Given the description of an element on the screen output the (x, y) to click on. 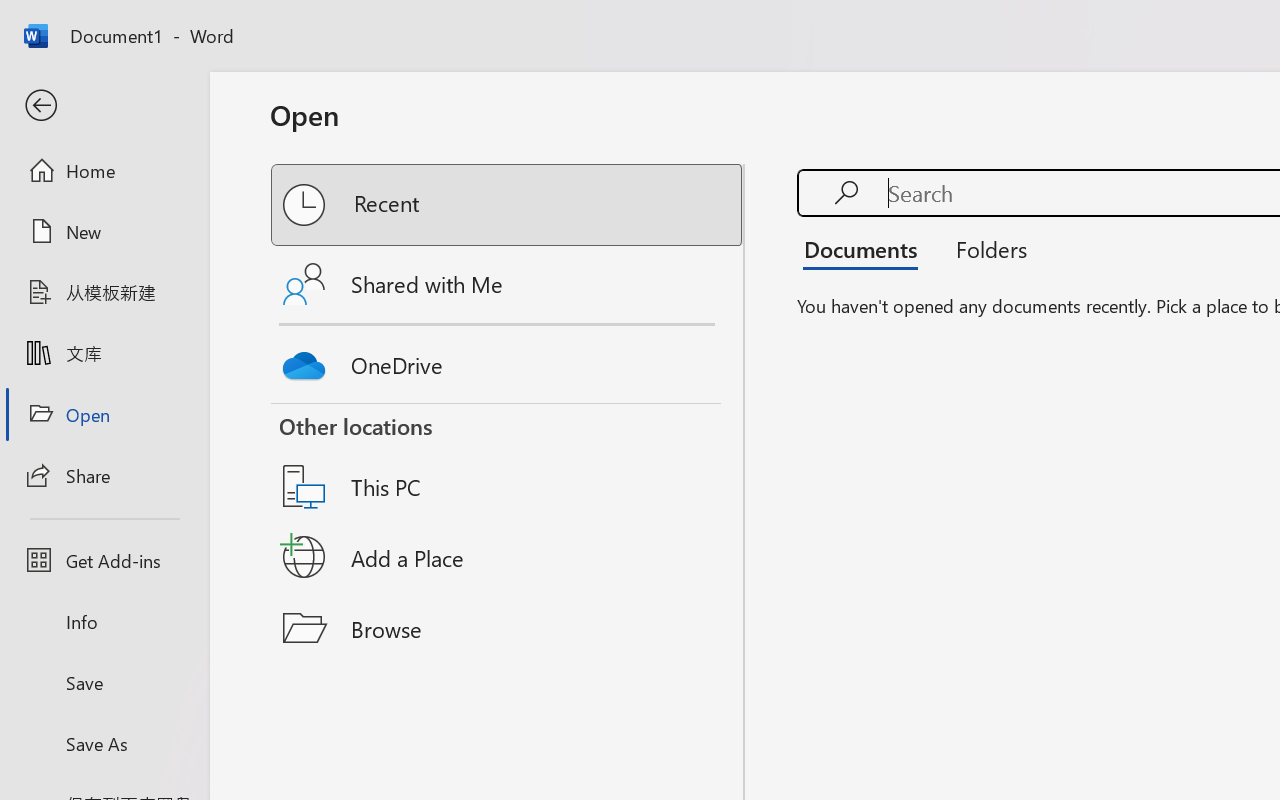
Recent (507, 205)
New (104, 231)
Save As (104, 743)
OneDrive (507, 359)
Documents (866, 248)
This PC (507, 461)
Info (104, 621)
Folders (984, 248)
Get Add-ins (104, 560)
Back (104, 106)
